Given the description of an element on the screen output the (x, y) to click on. 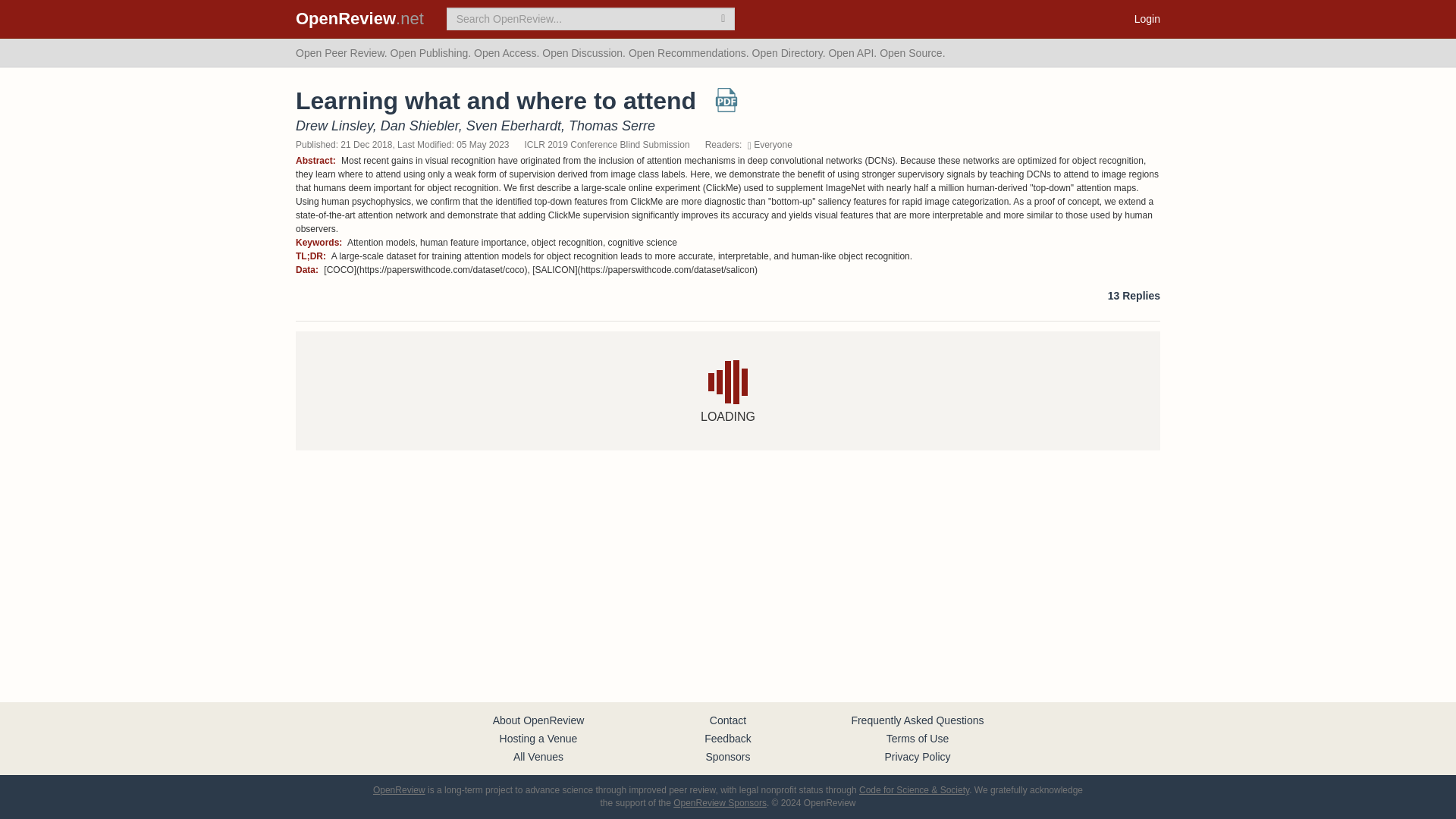
OpenReview Sponsors (719, 802)
Download PDF (726, 105)
Feedback (727, 738)
OpenReview (398, 789)
Contact (727, 720)
Dan Shiebler (419, 125)
Thomas Serre (612, 125)
About OpenReview (539, 720)
Sven Eberhardt (512, 125)
Hosting a Venue (538, 738)
